Given the description of an element on the screen output the (x, y) to click on. 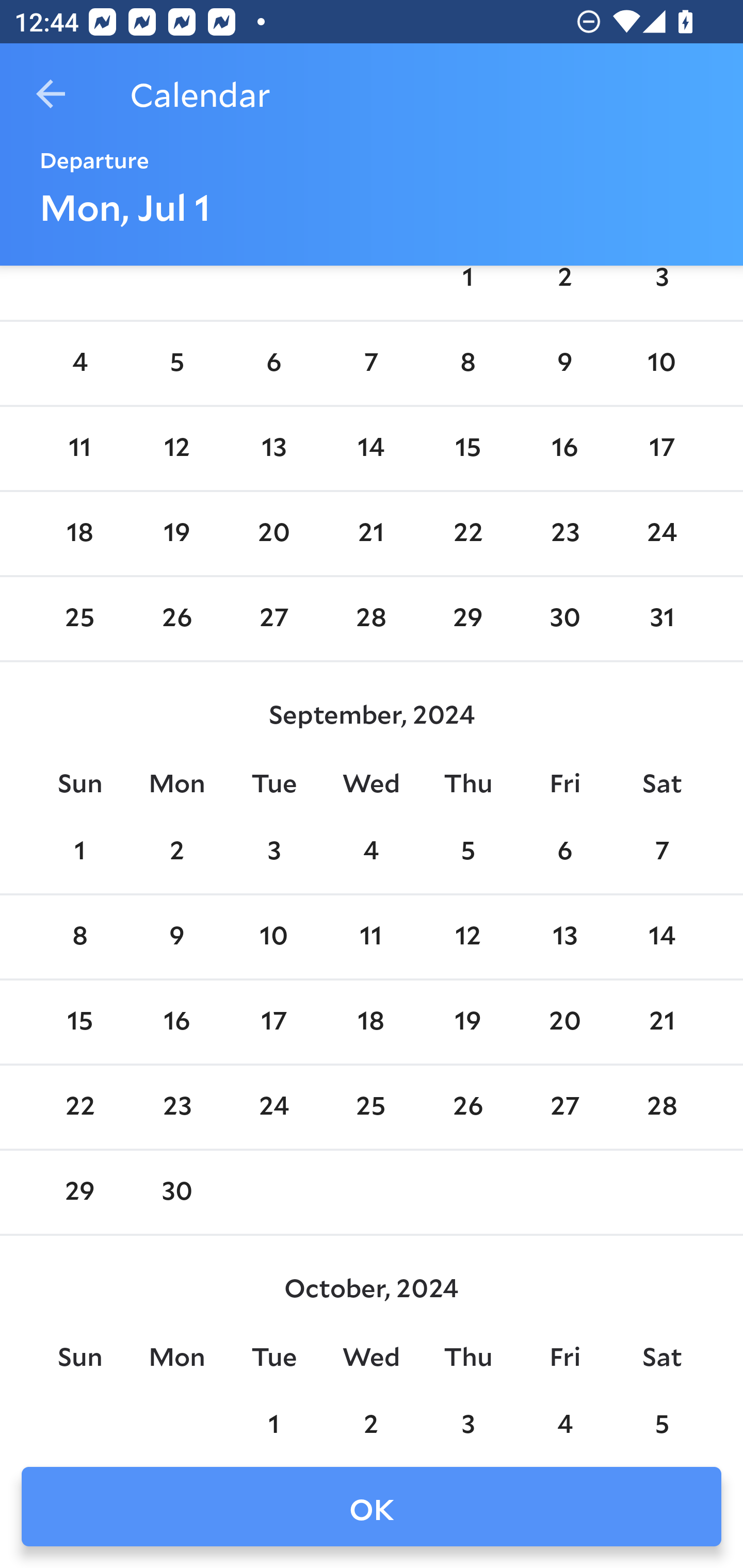
Navigate up (50, 93)
1 (467, 289)
2 (565, 289)
3 (661, 289)
4 (79, 363)
5 (177, 363)
6 (273, 363)
7 (371, 363)
8 (467, 363)
9 (565, 363)
10 (661, 363)
11 (79, 448)
12 (177, 448)
13 (273, 448)
14 (371, 448)
15 (467, 448)
16 (565, 448)
17 (661, 448)
18 (79, 533)
19 (177, 533)
20 (273, 533)
21 (371, 533)
22 (467, 533)
23 (565, 533)
24 (661, 533)
25 (79, 619)
26 (177, 619)
27 (273, 619)
28 (371, 619)
29 (467, 619)
30 (565, 619)
31 (661, 619)
1 (79, 851)
2 (177, 851)
3 (273, 851)
4 (371, 851)
5 (467, 851)
6 (565, 851)
7 (661, 851)
8 (79, 937)
9 (177, 937)
10 (273, 937)
11 (371, 937)
12 (467, 937)
13 (565, 937)
14 (661, 937)
15 (79, 1022)
16 (177, 1022)
17 (273, 1022)
18 (371, 1022)
19 (467, 1022)
20 (565, 1022)
21 (661, 1022)
22 (79, 1106)
23 (177, 1106)
24 (273, 1106)
25 (371, 1106)
26 (467, 1106)
27 (565, 1106)
28 (661, 1106)
29 (79, 1193)
30 (177, 1193)
1 (273, 1417)
2 (371, 1417)
3 (467, 1417)
4 (565, 1417)
5 (661, 1417)
OK (371, 1506)
